Given the description of an element on the screen output the (x, y) to click on. 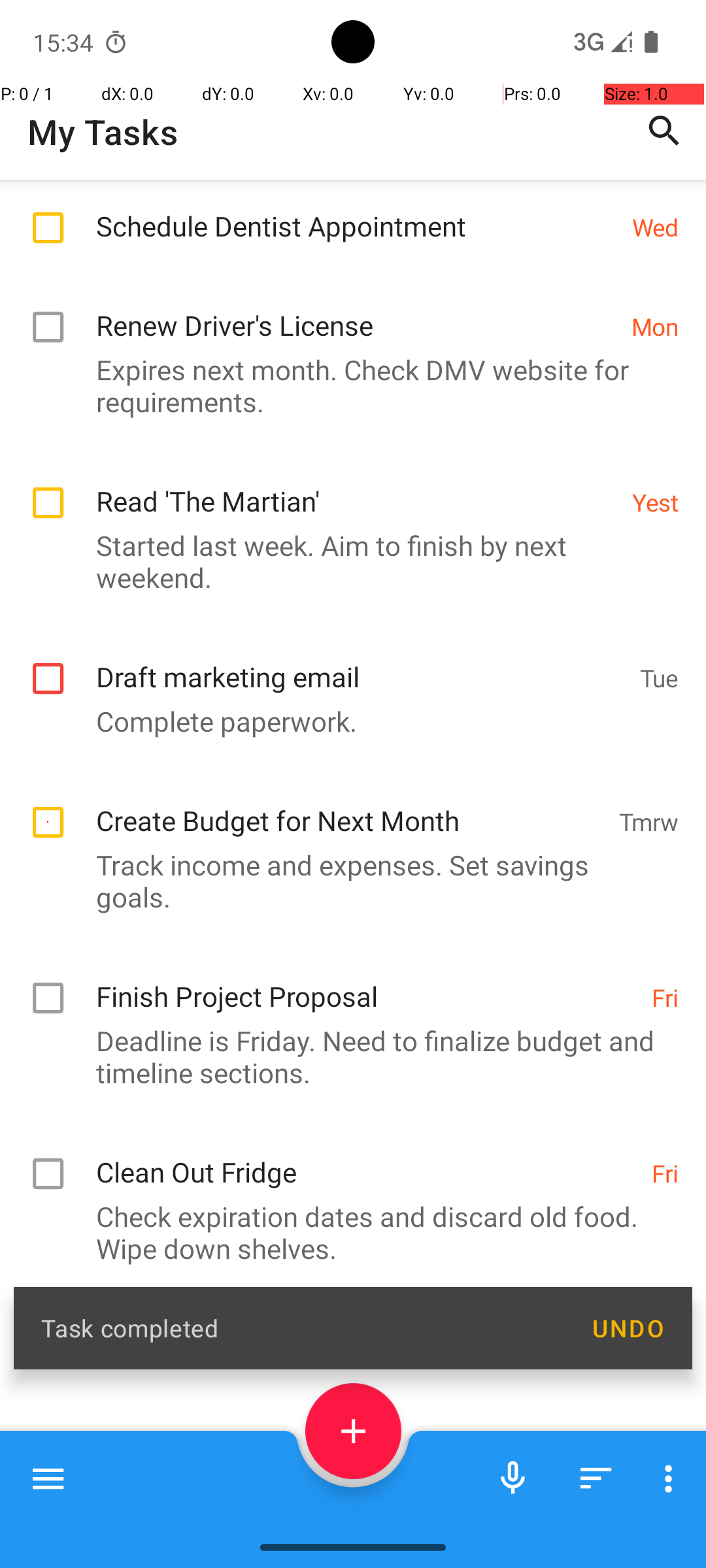
Draft marketing email Element type: android.widget.TextView (361, 662)
Complete paperwork. Element type: android.widget.TextView (346, 720)
